Given the description of an element on the screen output the (x, y) to click on. 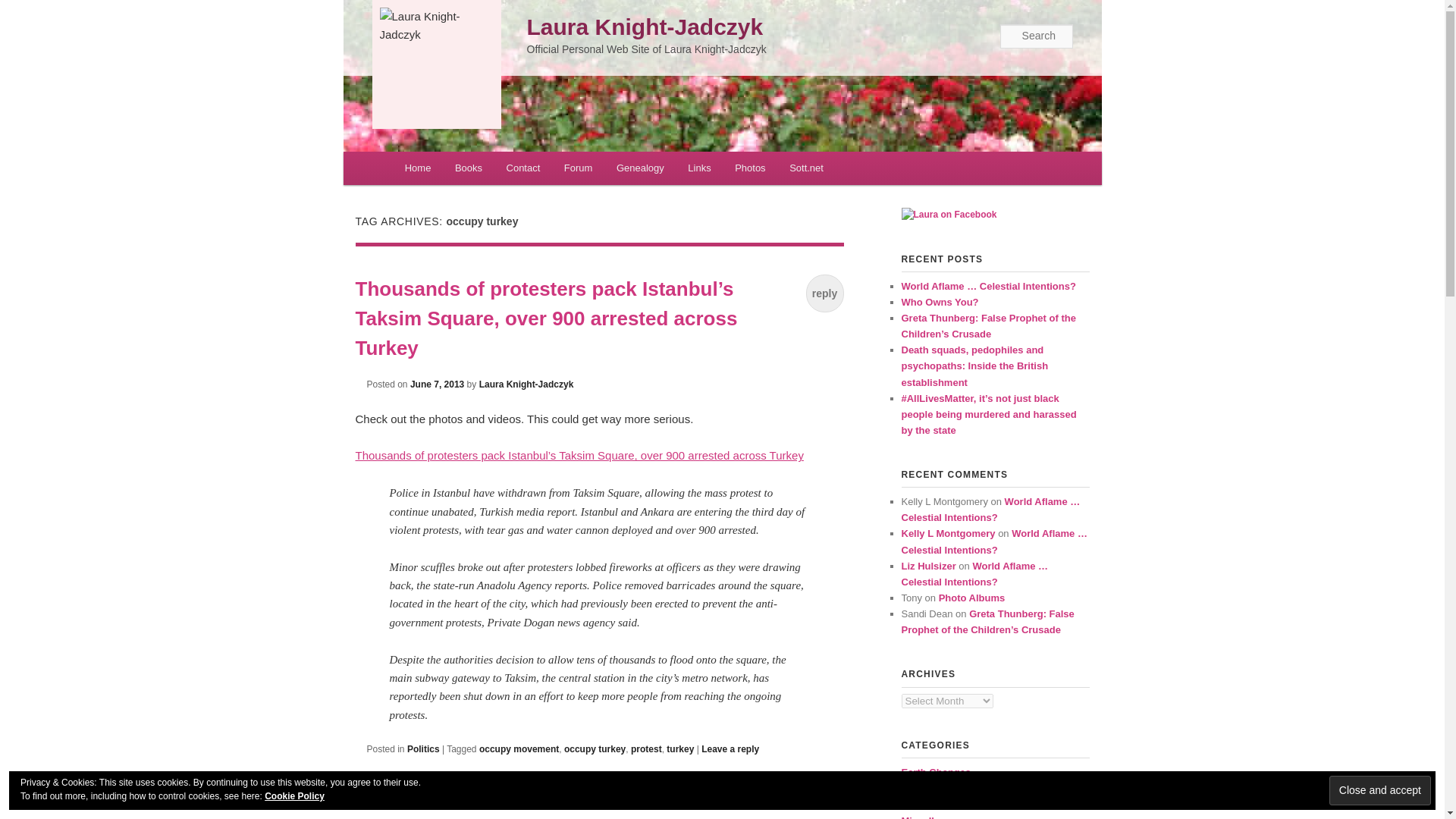
Forum (577, 167)
Links (700, 167)
Laura Knight-Jadczyk (435, 26)
Leave a reply (729, 748)
occupy turkey (595, 748)
Kelly L Montgomery (947, 532)
Search (24, 8)
Genealogy (639, 167)
Books (468, 167)
Laura Knight-Jadczyk (643, 26)
